Given the description of an element on the screen output the (x, y) to click on. 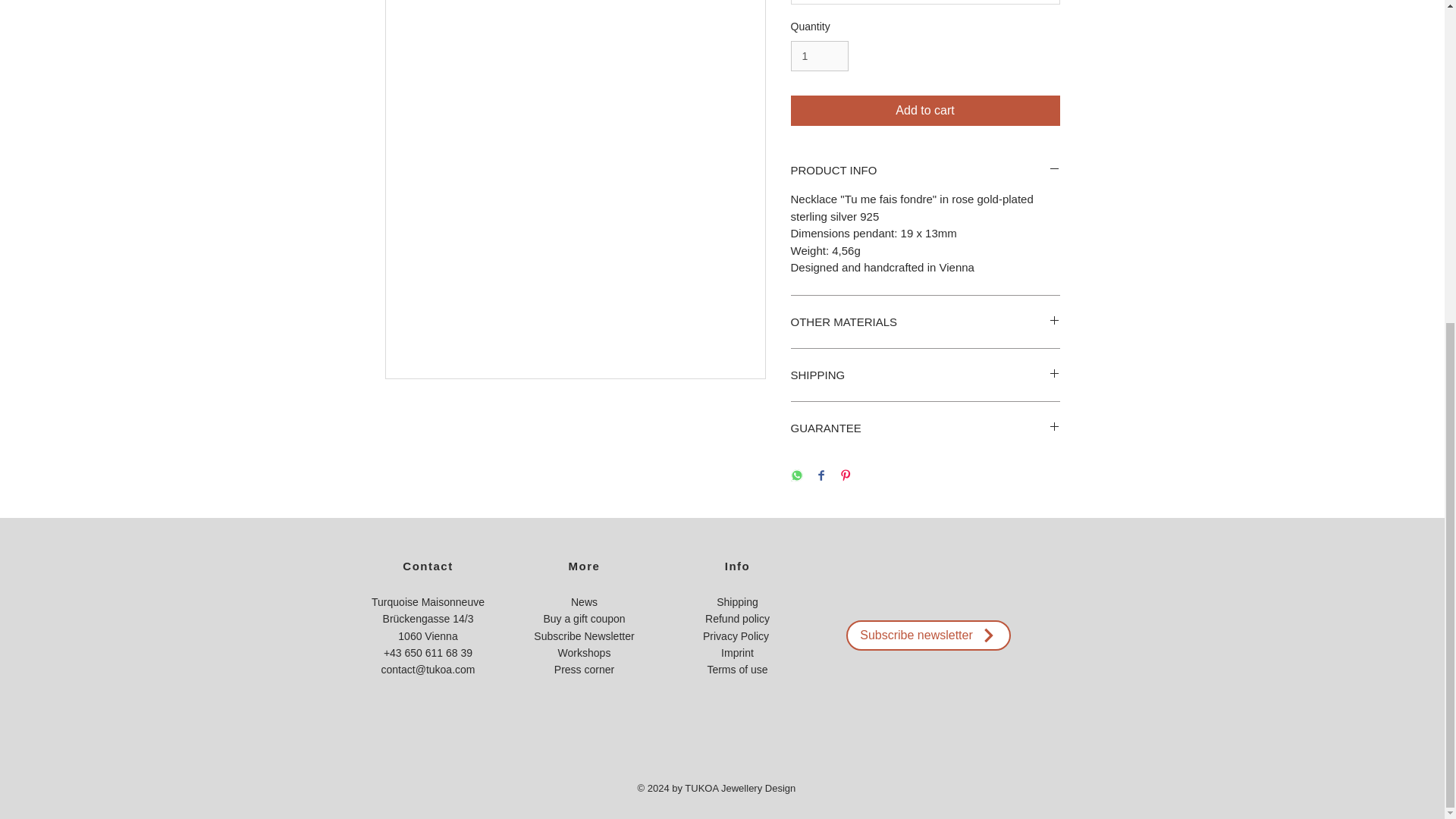
SHIPPING (924, 374)
PRODUCT INFO (924, 170)
45cm (924, 2)
GUARANTEE (924, 427)
Buy a gift coupon (583, 618)
News (583, 602)
OTHER MATERIALS (924, 321)
Workshops (584, 653)
Press corner (584, 669)
Subscribe Newsletter (583, 635)
Add to cart (924, 110)
1 (818, 56)
